Given the description of an element on the screen output the (x, y) to click on. 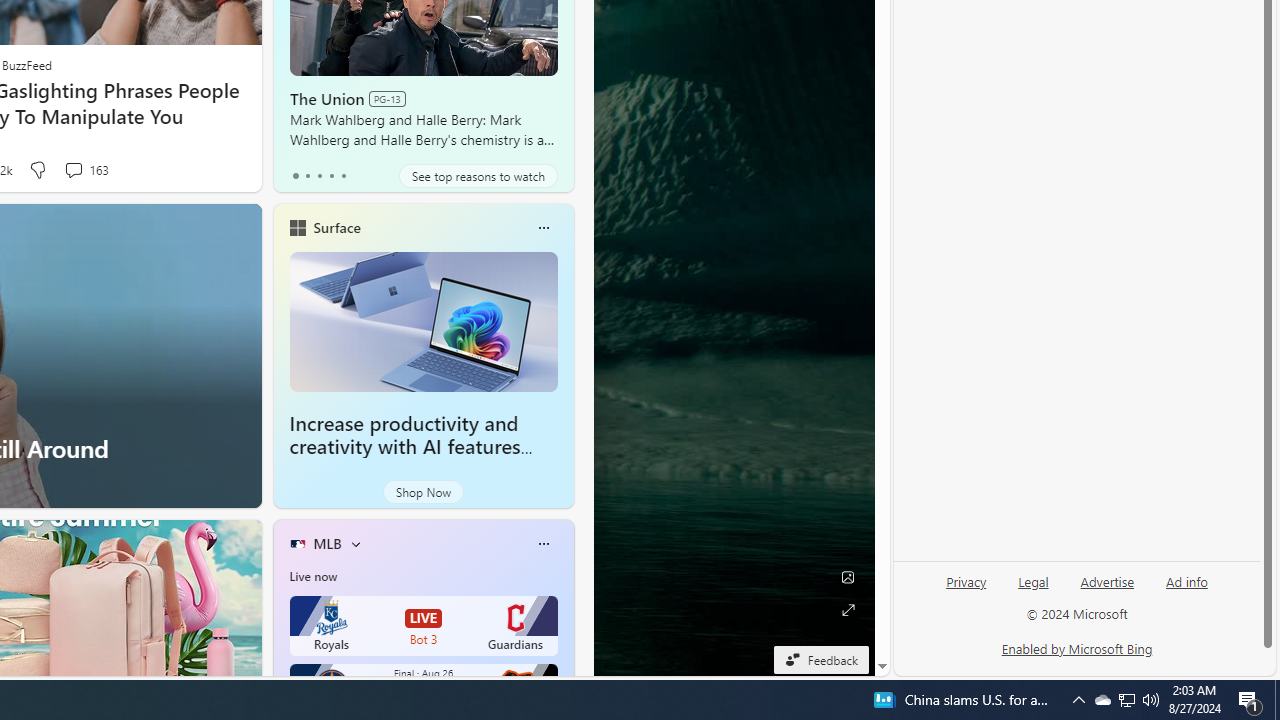
Royals LIVE Bot 3 Guardians (423, 625)
View comments 163 Comment (85, 170)
Shop Now (422, 491)
See top reasons to watch (478, 175)
Surface (336, 227)
tab-3 (331, 175)
Legal (1033, 589)
View comments 163 Comment (73, 169)
More interests (355, 543)
Expand background (847, 610)
